Given the description of an element on the screen output the (x, y) to click on. 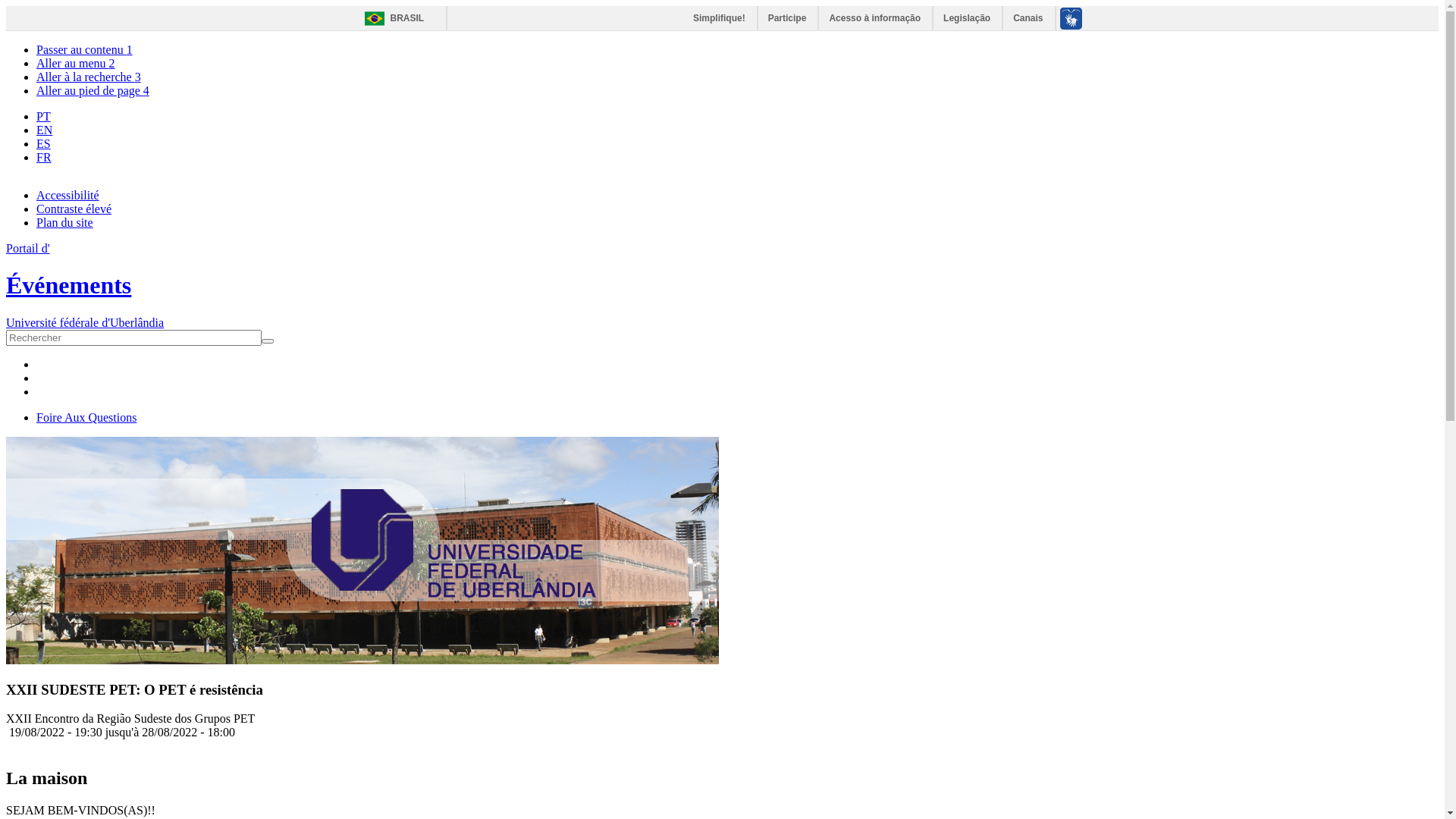
Passer au contenu 1 Element type: text (84, 49)
Rechercher Element type: text (38, 347)
BRASIL Element type: text (389, 18)
FR Element type: text (43, 156)
Aller au pied de page 4 Element type: text (92, 90)
Foire Aux Questions Element type: text (86, 417)
Participe Element type: text (788, 17)
PT Element type: text (43, 115)
EN Element type: text (44, 129)
Plan du site Element type: text (64, 222)
Simplifique! Element type: text (719, 17)
Canais Element type: text (1028, 17)
Aller au menu 2 Element type: text (75, 62)
ES Element type: text (43, 143)
